Given the description of an element on the screen output the (x, y) to click on. 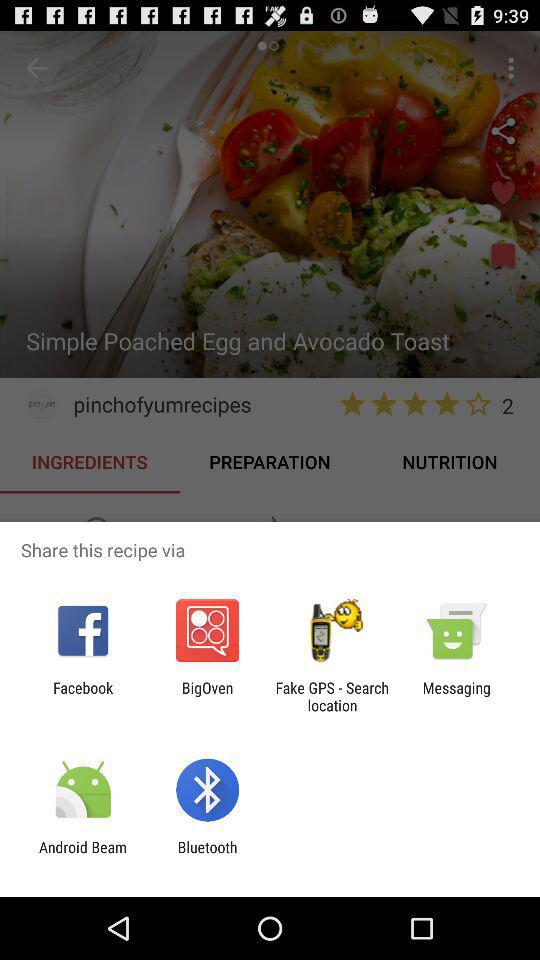
scroll until messaging (456, 696)
